Given the description of an element on the screen output the (x, y) to click on. 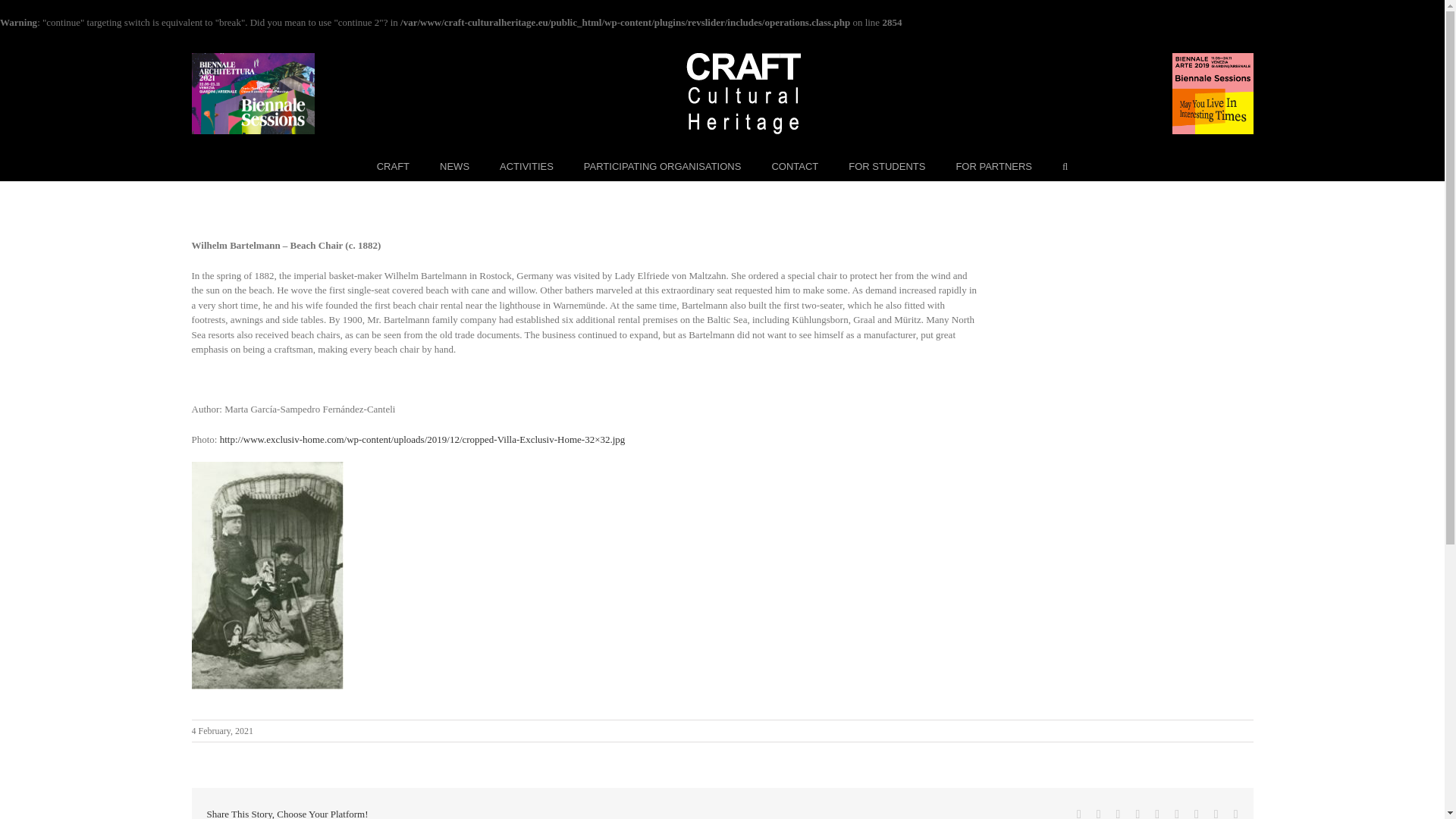
CRAFT (393, 164)
ACTIVITIES (526, 164)
CONTACT (794, 164)
NEWS (453, 164)
FOR STUDENTS (886, 164)
FOR PARTNERS (993, 164)
PARTICIPATING ORGANISATIONS (662, 164)
